Given the description of an element on the screen output the (x, y) to click on. 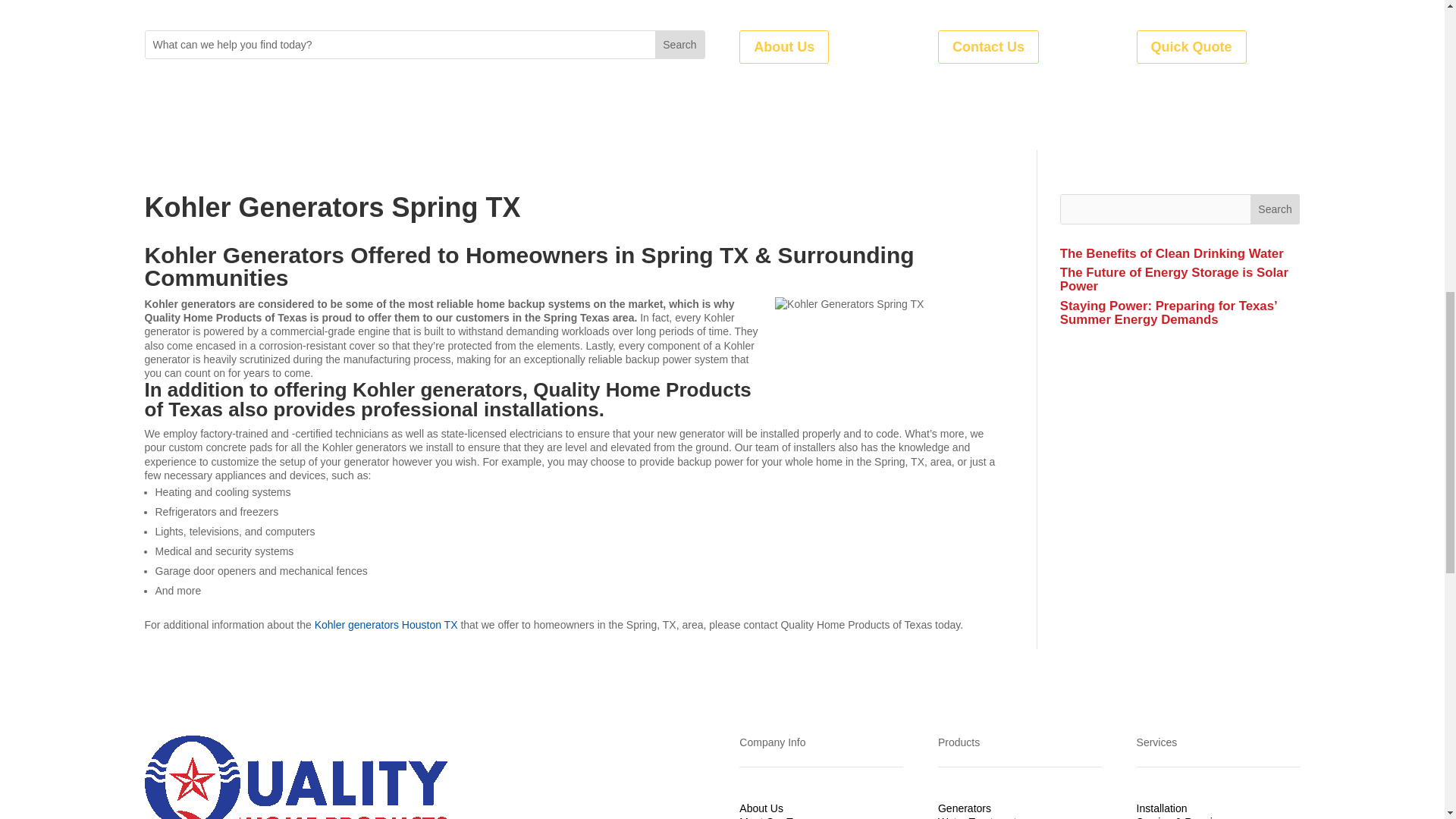
Search (679, 44)
About Us (761, 808)
About Us (783, 46)
Contact Us (988, 46)
Quick Quote (1191, 46)
Search (679, 44)
Kohler generators Spring TX (888, 356)
Search (1275, 209)
Kohler generators Houston TX (386, 624)
Meet Our Team (775, 817)
Search (679, 44)
The Future of Energy Storage is Solar Power (1173, 279)
The Benefits of Clean Drinking Water (1171, 253)
